Given the description of an element on the screen output the (x, y) to click on. 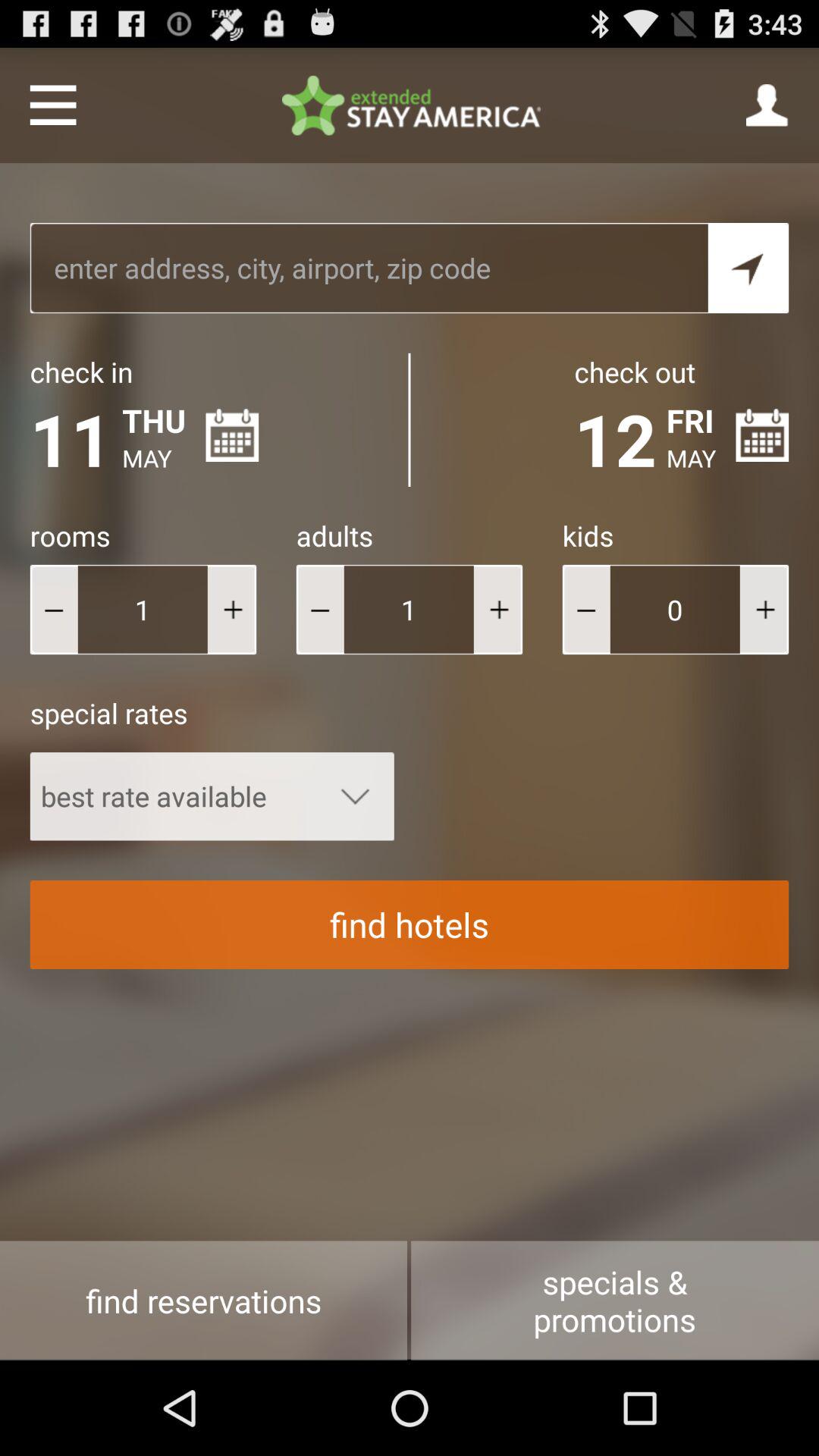
bring up keyboard (369, 267)
